Given the description of an element on the screen output the (x, y) to click on. 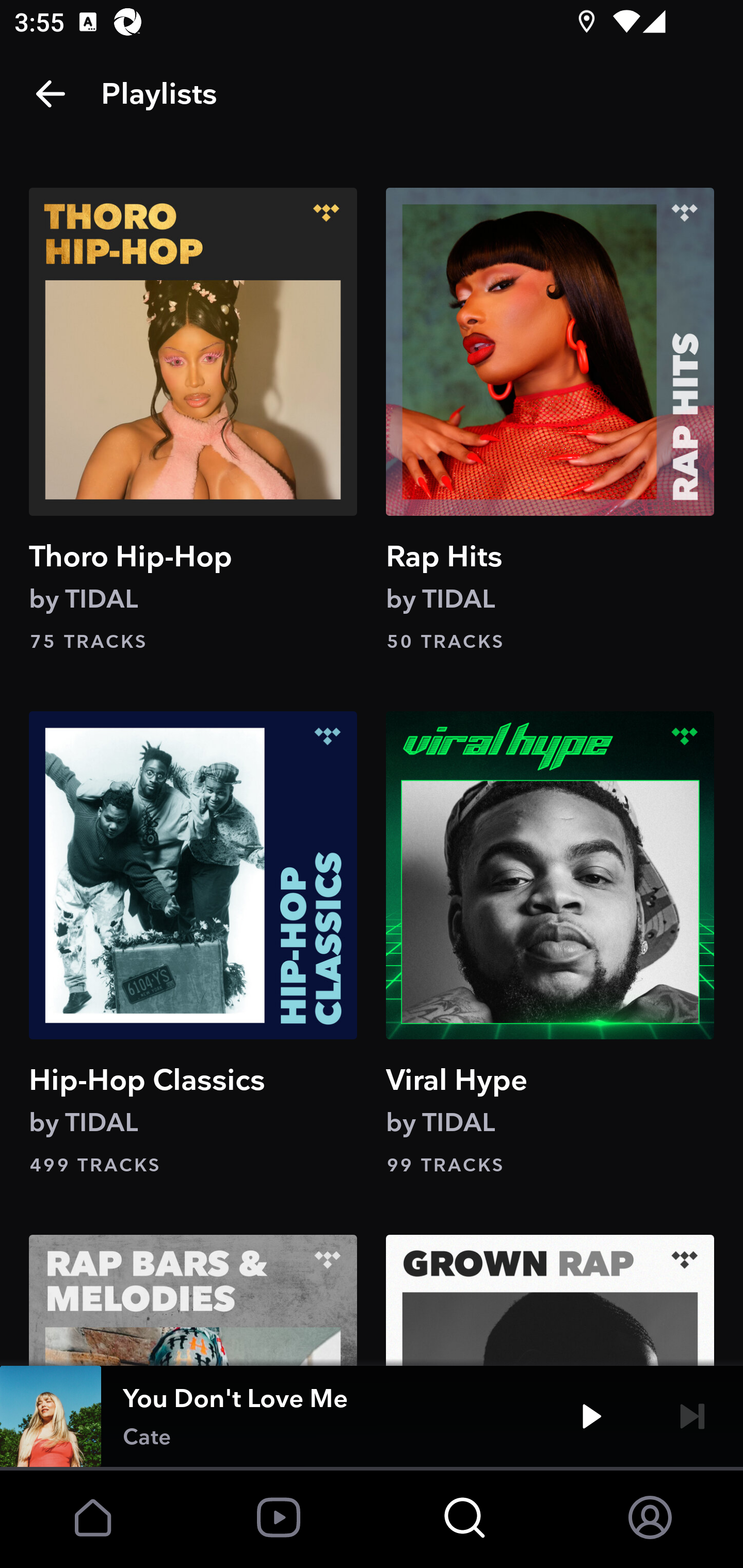
Thoro Hip-Hop by TIDAL 75 TRACKS (192, 420)
Rap Hits by TIDAL 50 TRACKS (549, 420)
Hip-Hop Classics by TIDAL 499 TRACKS (192, 944)
Viral Hype by TIDAL 99 TRACKS (549, 944)
You Don't Love Me Cate Play (371, 1416)
Play (590, 1416)
